Given the description of an element on the screen output the (x, y) to click on. 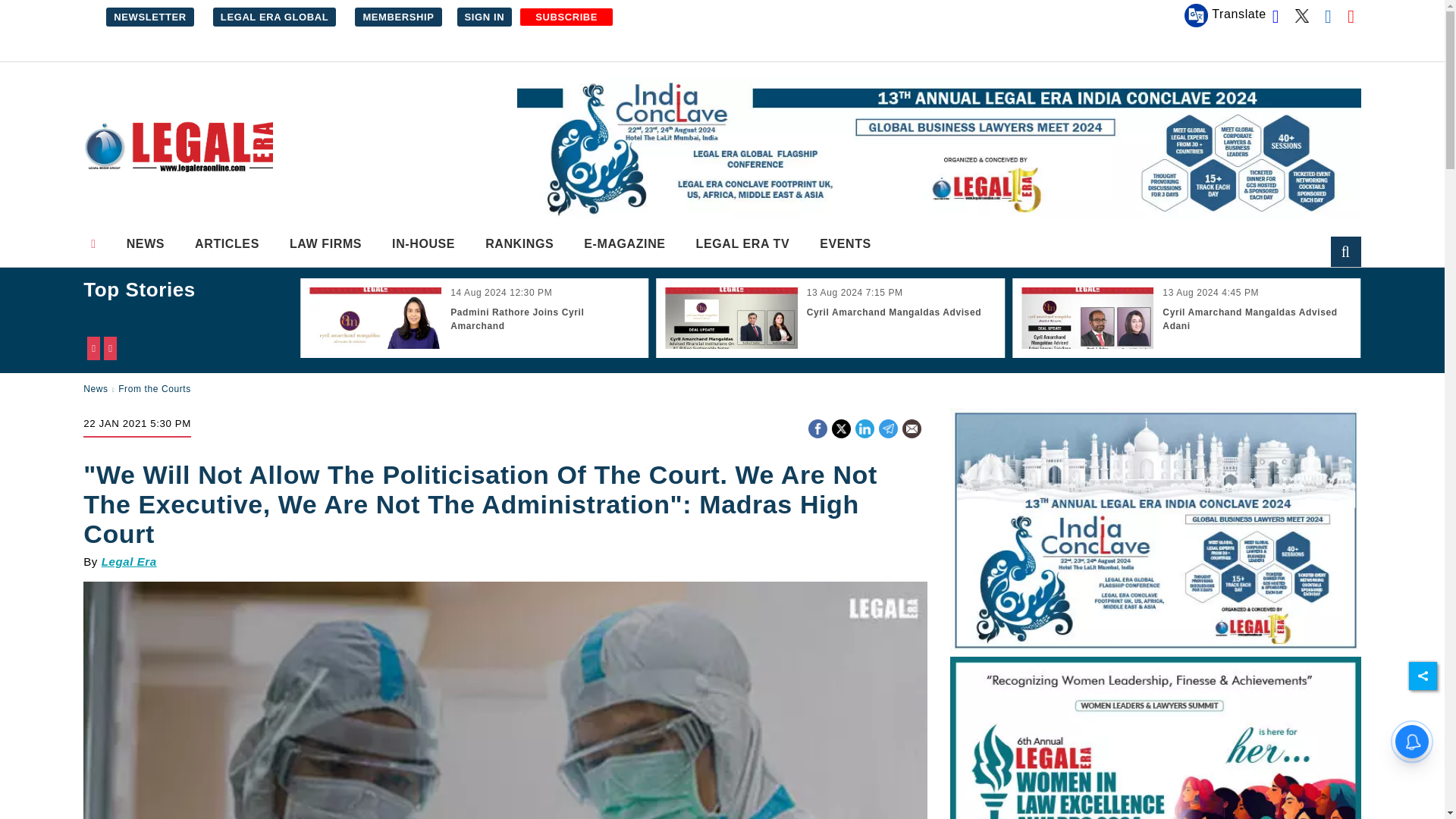
Legal Era (177, 147)
NEWSLETTER (149, 16)
facebook (818, 428)
SUBSCRIBE (566, 16)
LEGAL ERA GLOBAL (274, 16)
SIGN IN (484, 16)
Translate (1225, 15)
MEMBERSHIP (398, 16)
Facebook (817, 426)
